Given the description of an element on the screen output the (x, y) to click on. 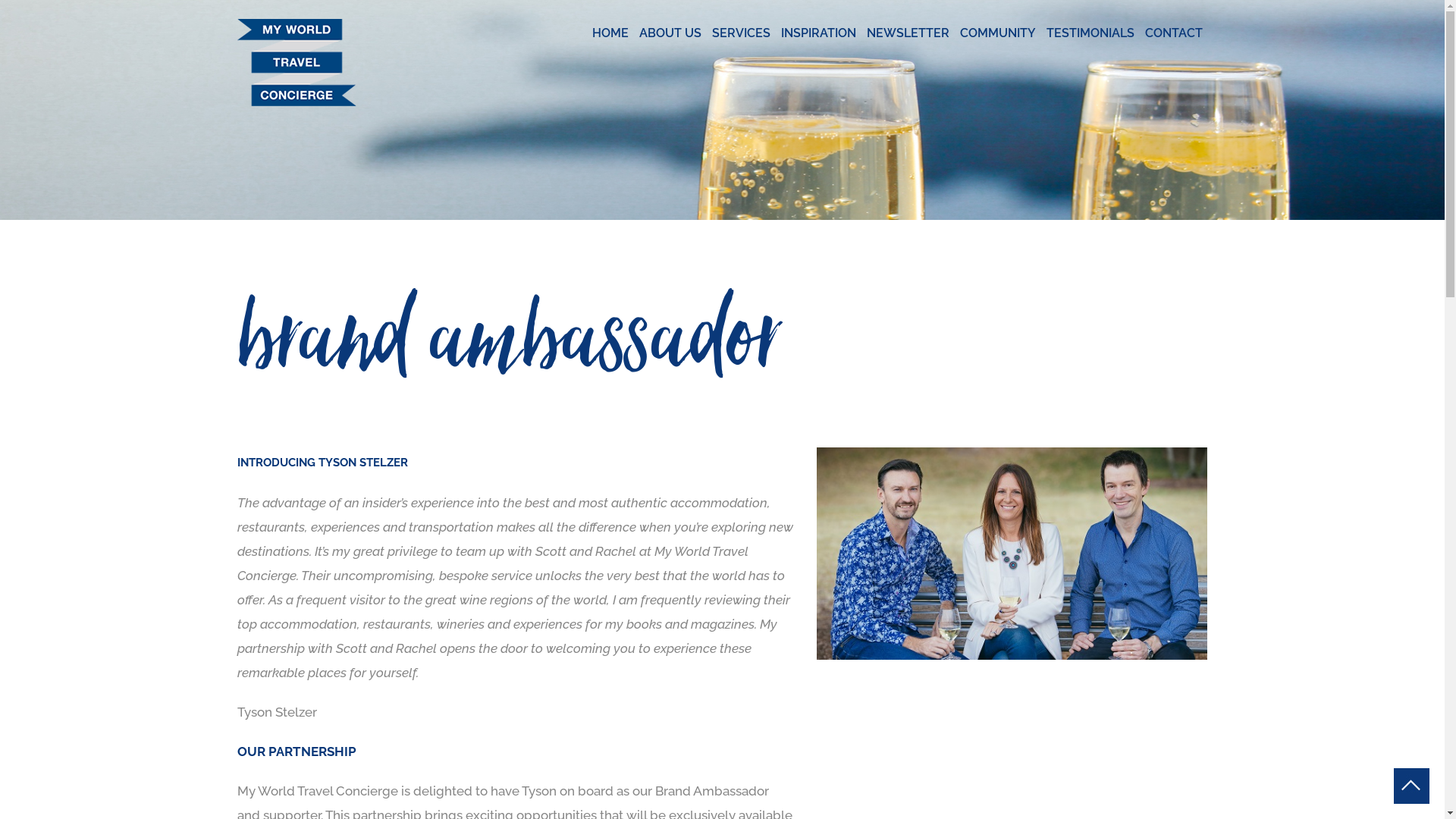
INSPIRATION Element type: text (817, 32)
CONTACT Element type: text (1173, 32)
NEWSLETTER Element type: text (907, 32)
ABOUT US Element type: text (669, 32)
SERVICES Element type: text (740, 32)
COMMUNITY Element type: text (996, 32)
Back to top Element type: text (1411, 785)
HOME Element type: text (609, 32)
TESTIMONIALS Element type: text (1089, 32)
